Given the description of an element on the screen output the (x, y) to click on. 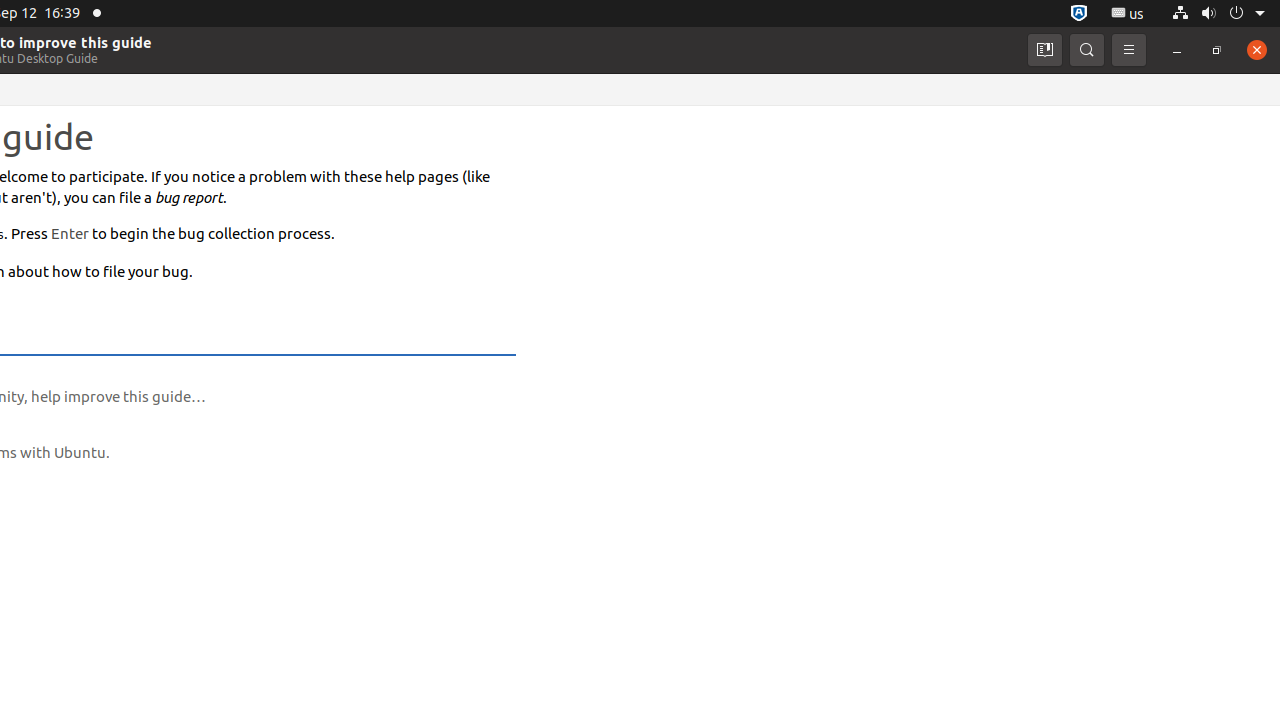
Restore Element type: push-button (1217, 50)
